Given the description of an element on the screen output the (x, y) to click on. 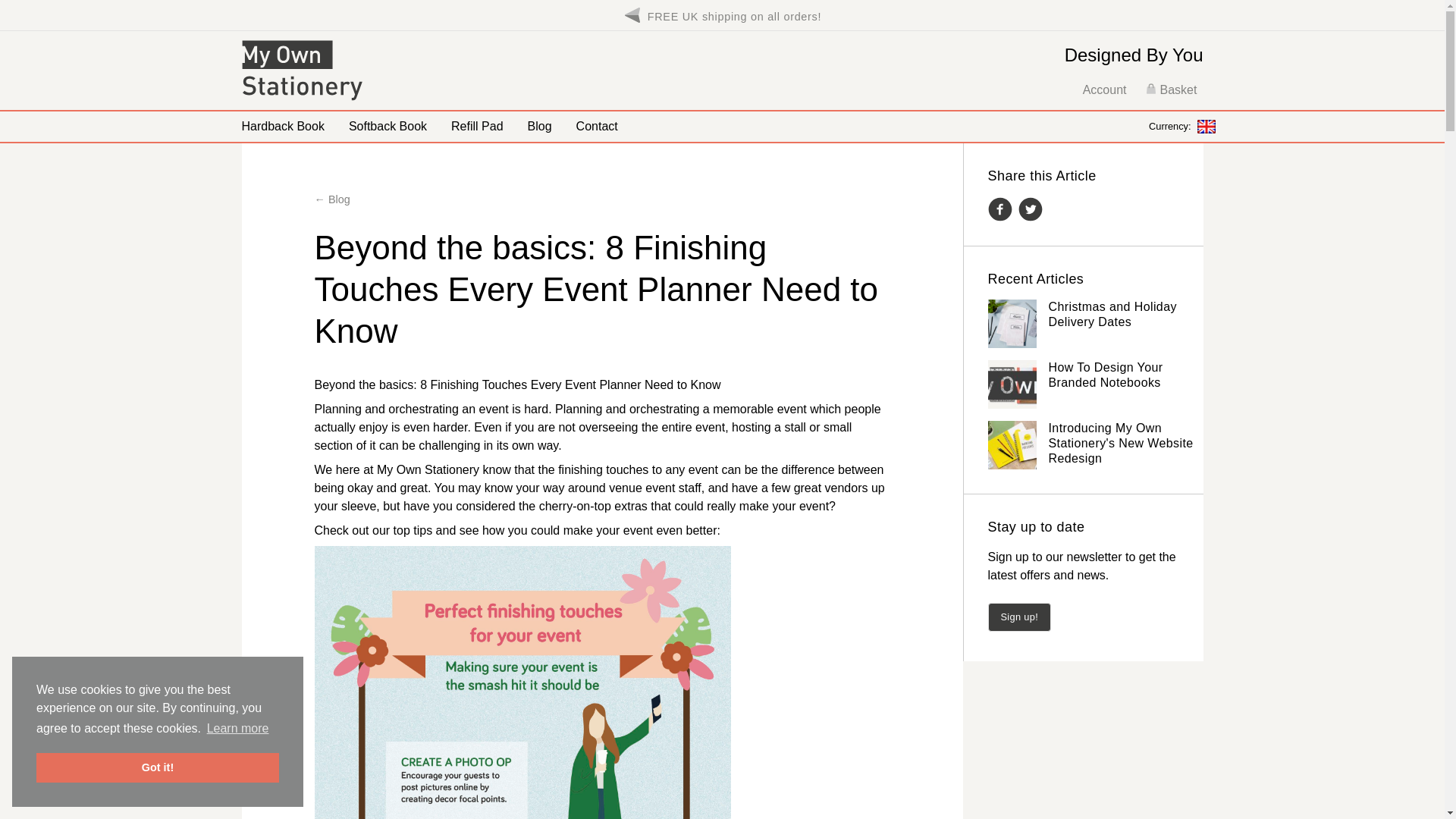
Hardback Book (282, 126)
Currency: (1181, 126)
Account (1104, 89)
Got it! (157, 767)
Christmas and Holiday Delivery Dates (1112, 314)
Learn more (236, 728)
Blog (539, 126)
Softback Book (387, 126)
Refill Pad (477, 126)
Basket (1170, 90)
How To Design Your Branded Notebooks (1104, 375)
Introducing My Own Stationery's New Website Redesign (1120, 443)
Sign up! (1019, 616)
Contact (597, 126)
